Given the description of an element on the screen output the (x, y) to click on. 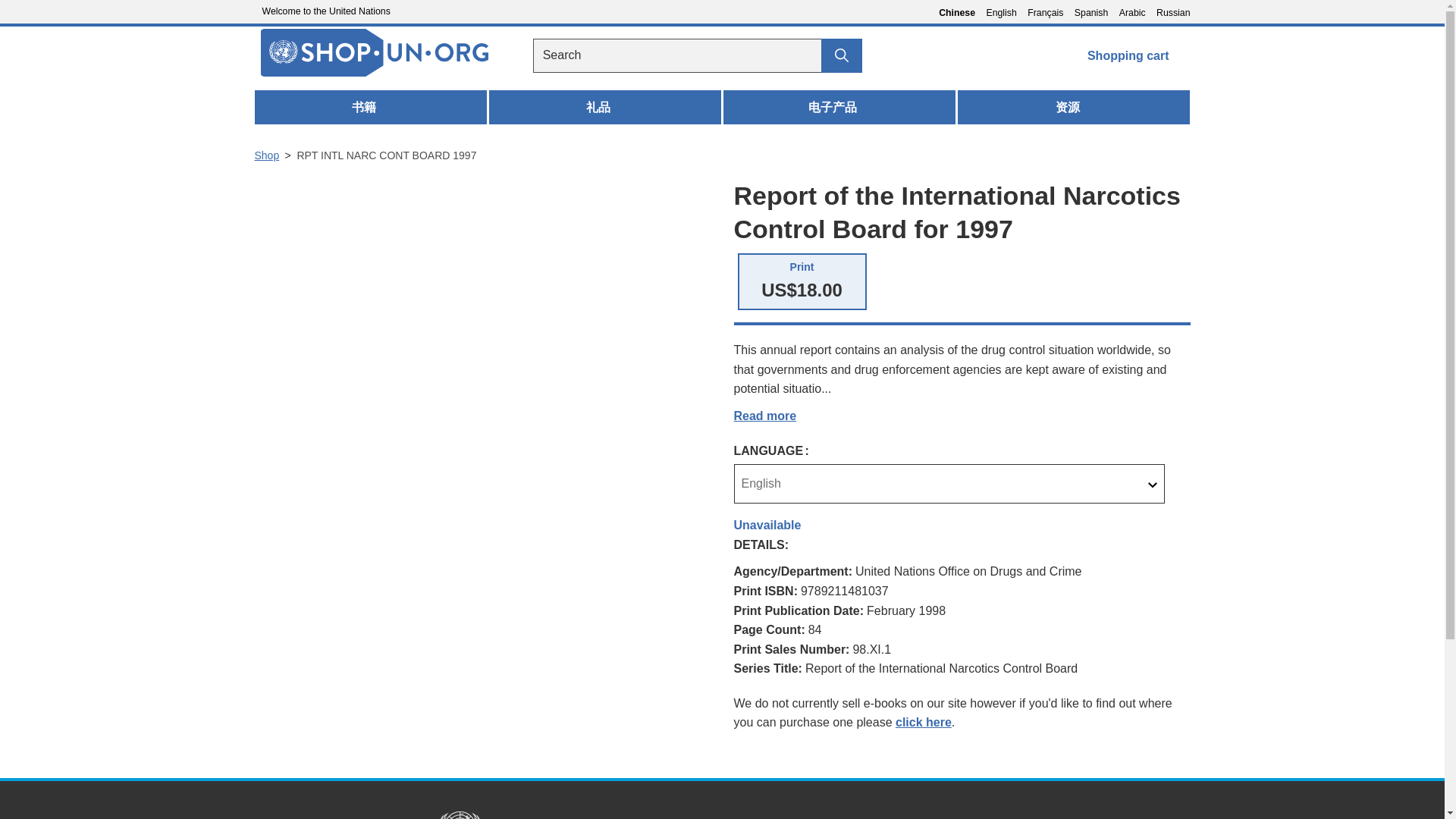
Chinese (960, 12)
Welcome to the United Nations (322, 11)
Shopping cart (1136, 55)
Arabic (1136, 10)
Spanish (1094, 10)
Shop (266, 155)
English (1004, 10)
Russian (764, 415)
SEARCH (1172, 10)
